Given the description of an element on the screen output the (x, y) to click on. 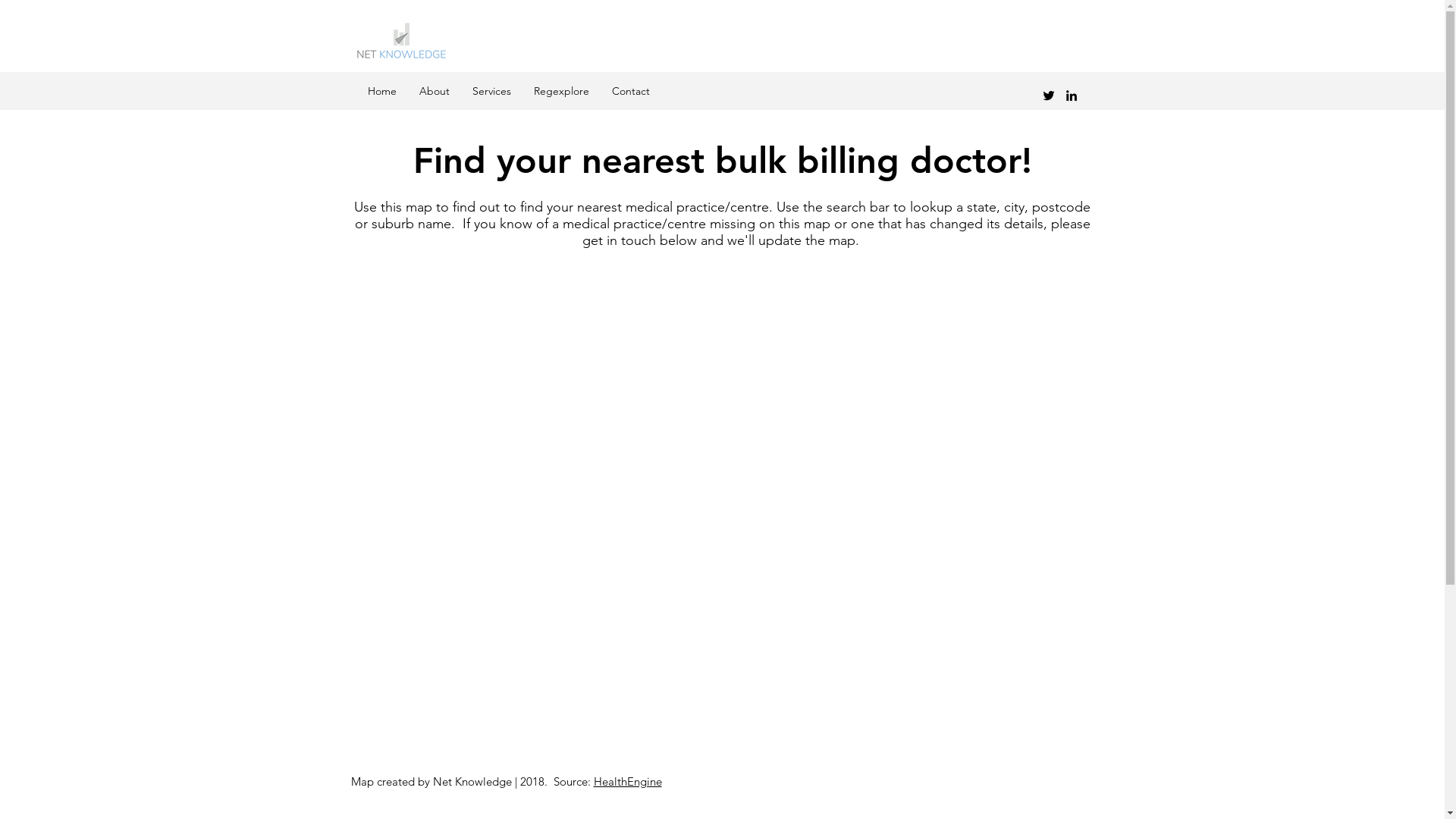
HealthEngine Element type: text (627, 781)
About Element type: text (434, 90)
Embedded Content Element type: hover (721, 514)
Regexplore Element type: text (560, 90)
Home Element type: text (381, 90)
Twitter Tweet Element type: hover (1064, 780)
Contact Element type: text (630, 90)
Services Element type: text (491, 90)
